Given the description of an element on the screen output the (x, y) to click on. 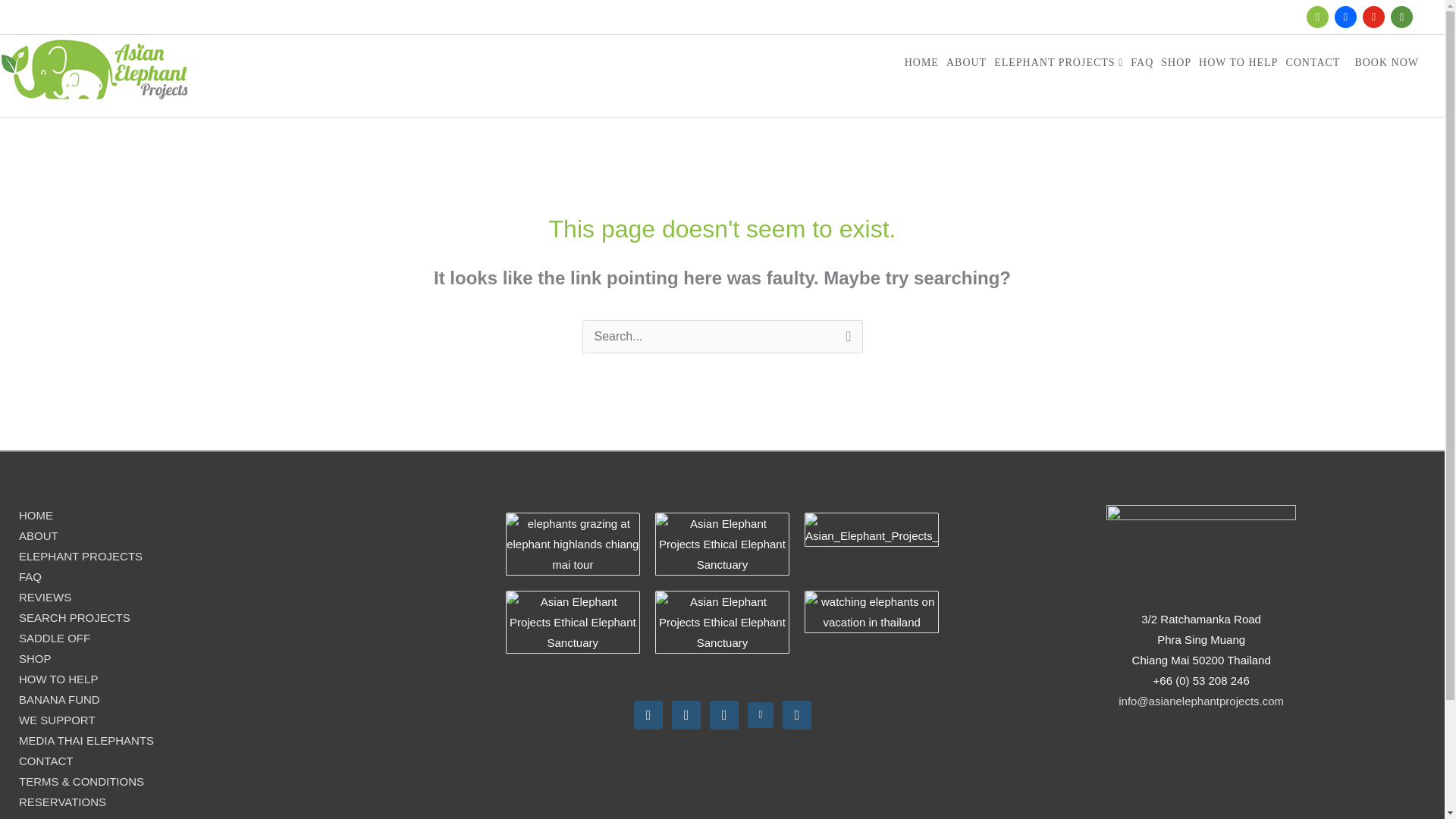
BOOK NOW (1386, 62)
HOW TO HELP (57, 678)
MEDIA THAI ELEPHANTS (86, 739)
facebook (1345, 15)
CONTACT (45, 760)
Default Label (760, 713)
SHOP (34, 658)
ABOUT (968, 62)
Instagram (685, 713)
Facebook (647, 713)
